Given the description of an element on the screen output the (x, y) to click on. 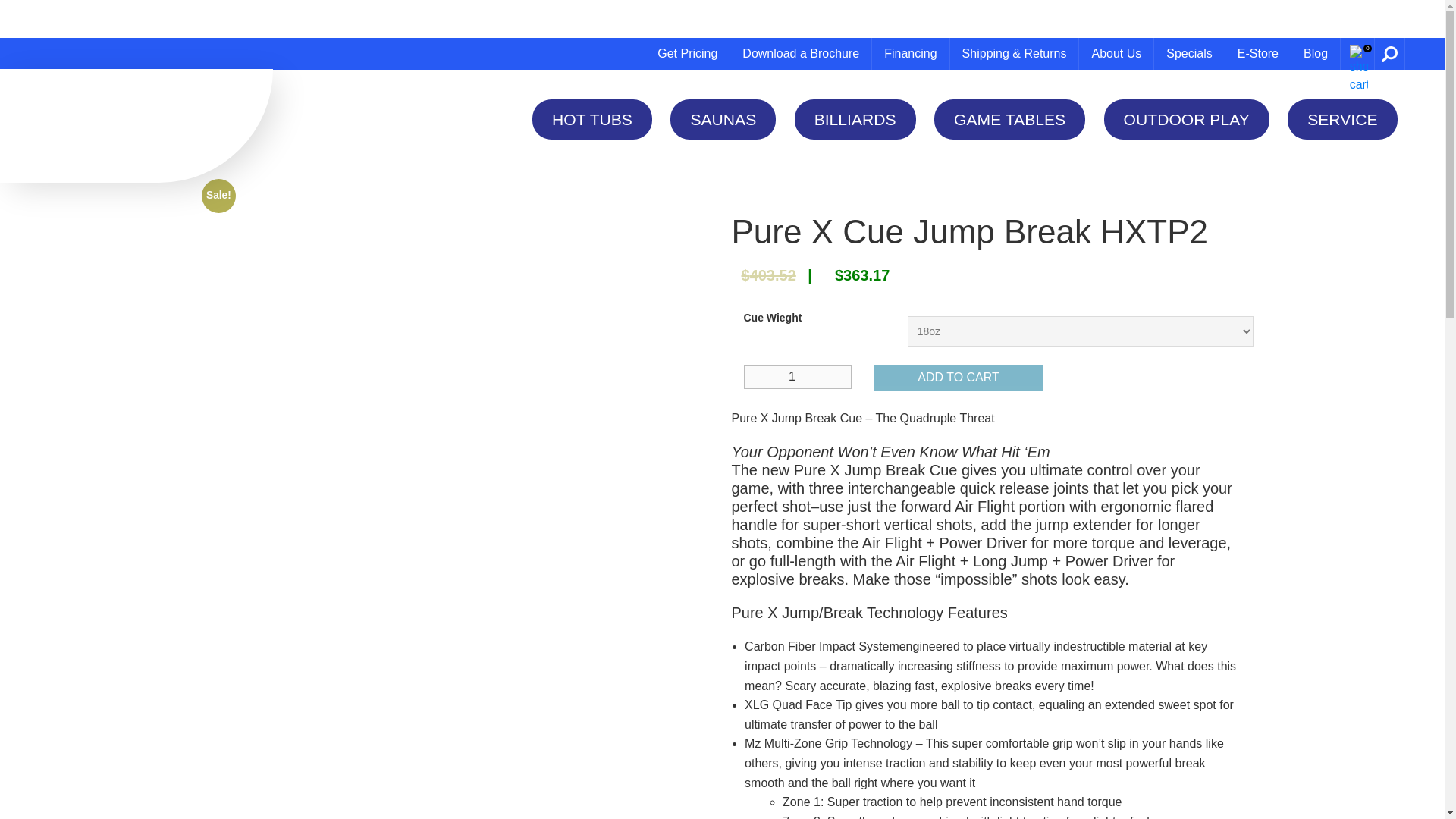
Cart (1358, 53)
Get Pricing (687, 53)
Download a Brochure (800, 53)
1 (796, 376)
Search (1389, 53)
E-Store (1257, 53)
0 (1358, 53)
Blog (1315, 53)
About Us (1115, 53)
Specials (1189, 53)
HOT TUBS (592, 119)
Financing (910, 53)
